Given the description of an element on the screen output the (x, y) to click on. 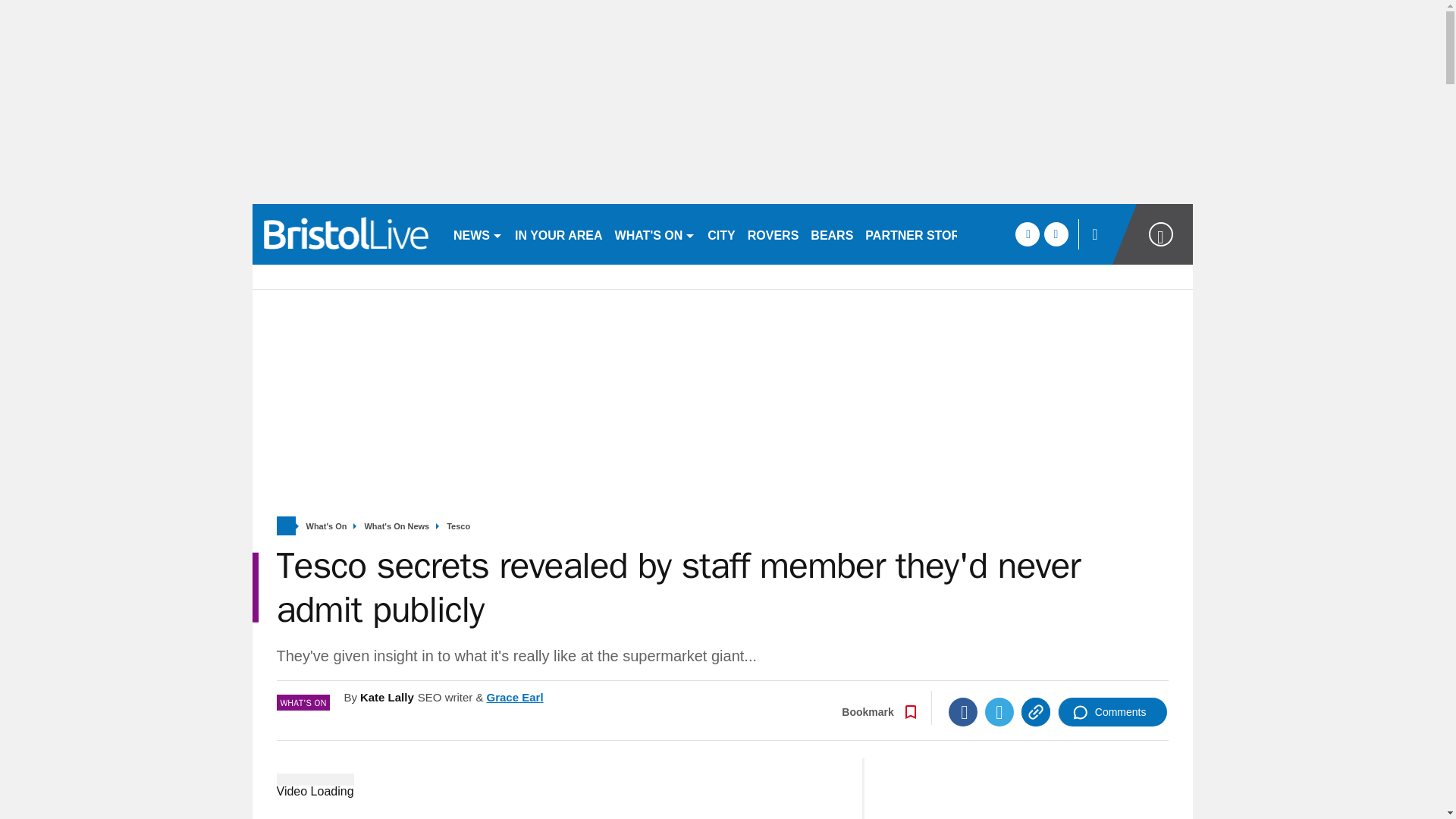
facebook (1026, 233)
twitter (1055, 233)
ROVERS (773, 233)
CITY (721, 233)
NEWS (477, 233)
Twitter (999, 711)
WHAT'S ON (654, 233)
Facebook (962, 711)
Comments (1112, 711)
PARTNER STORIES (922, 233)
IN YOUR AREA (558, 233)
bristolpost (345, 233)
BEARS (832, 233)
